Given the description of an element on the screen output the (x, y) to click on. 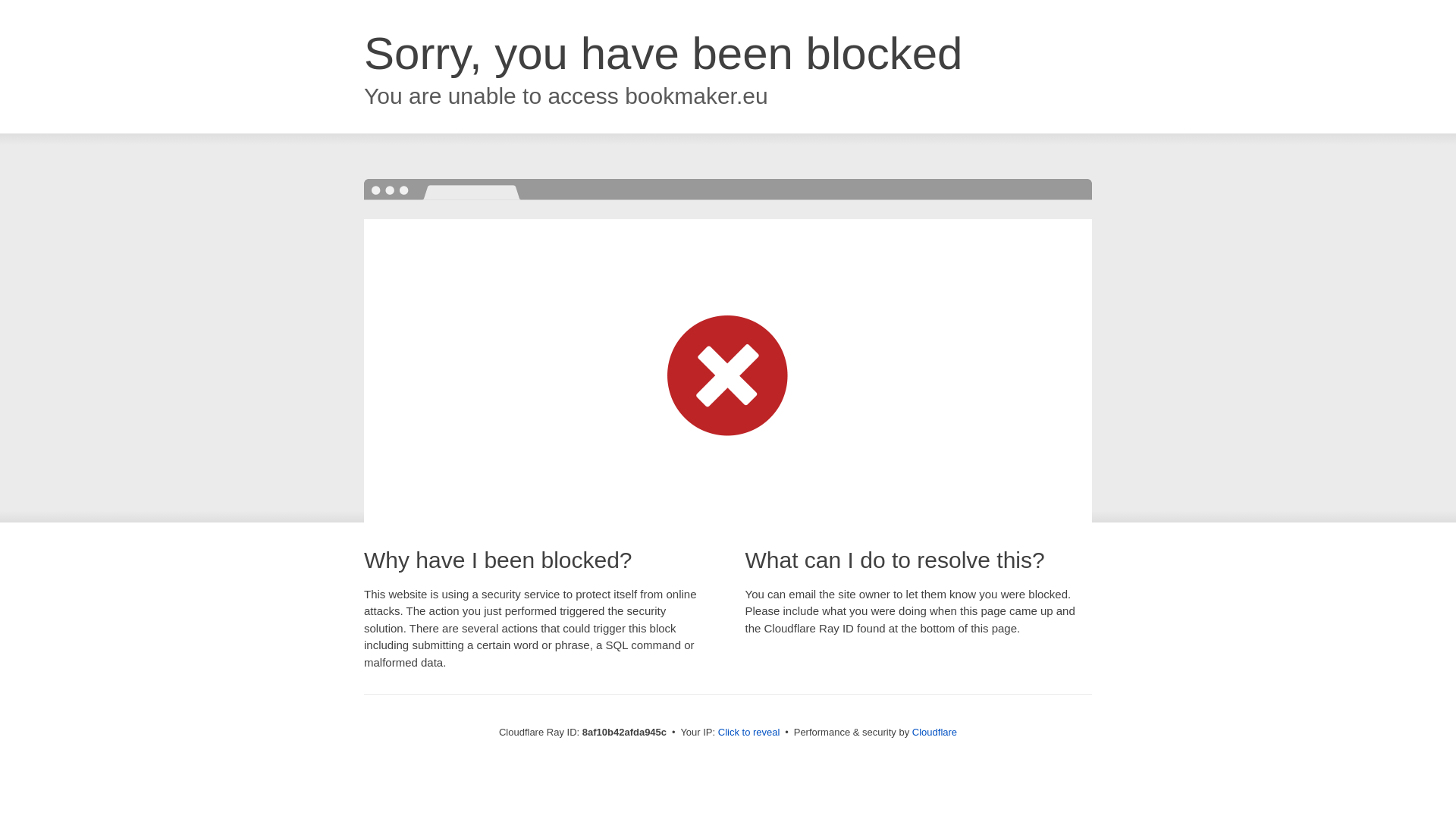
Cloudflare (934, 731)
Click to reveal (748, 732)
